Given the description of an element on the screen output the (x, y) to click on. 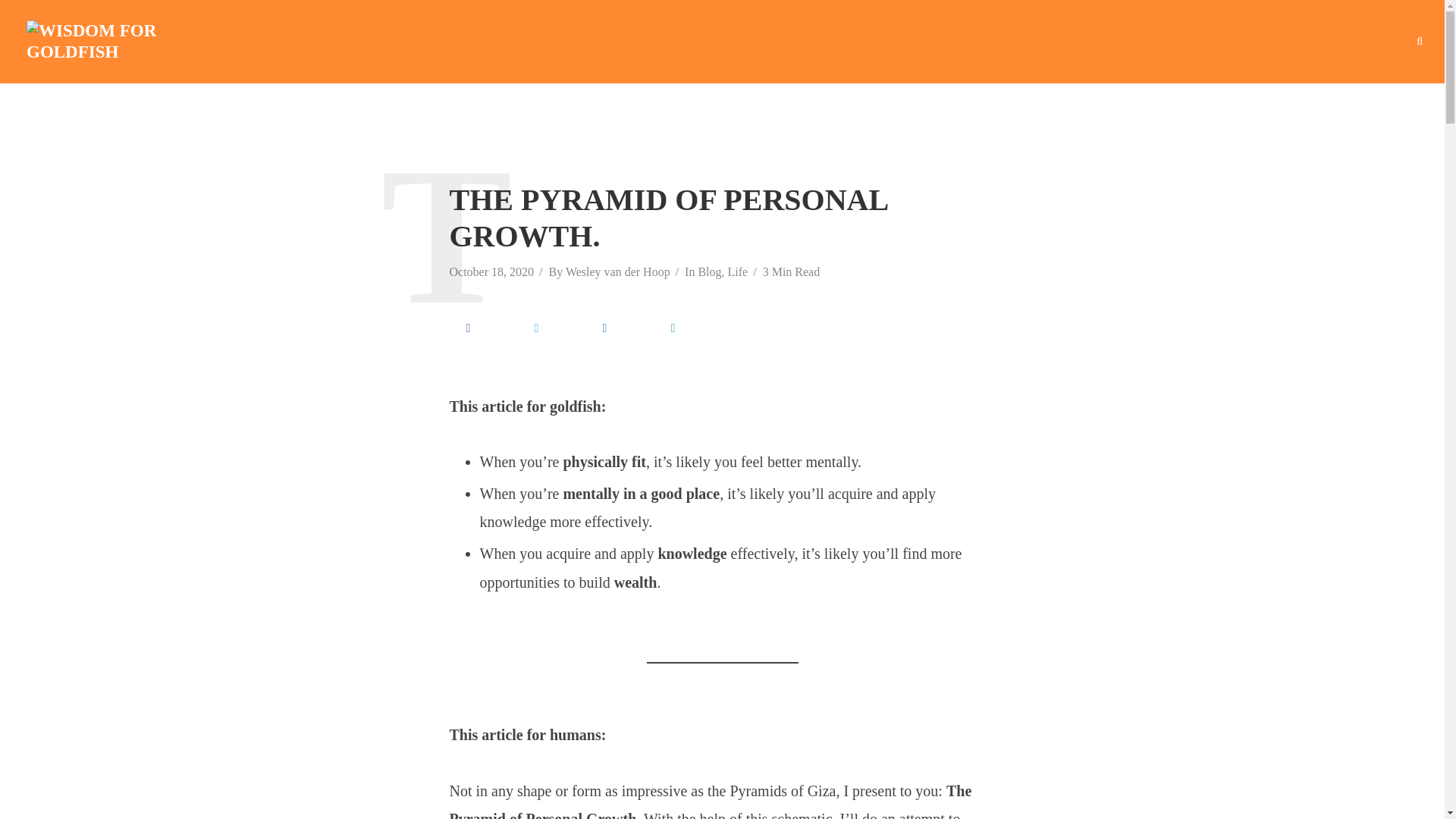
Life (738, 273)
Blog (708, 273)
Wesley van der Hoop (617, 273)
